Given the description of an element on the screen output the (x, y) to click on. 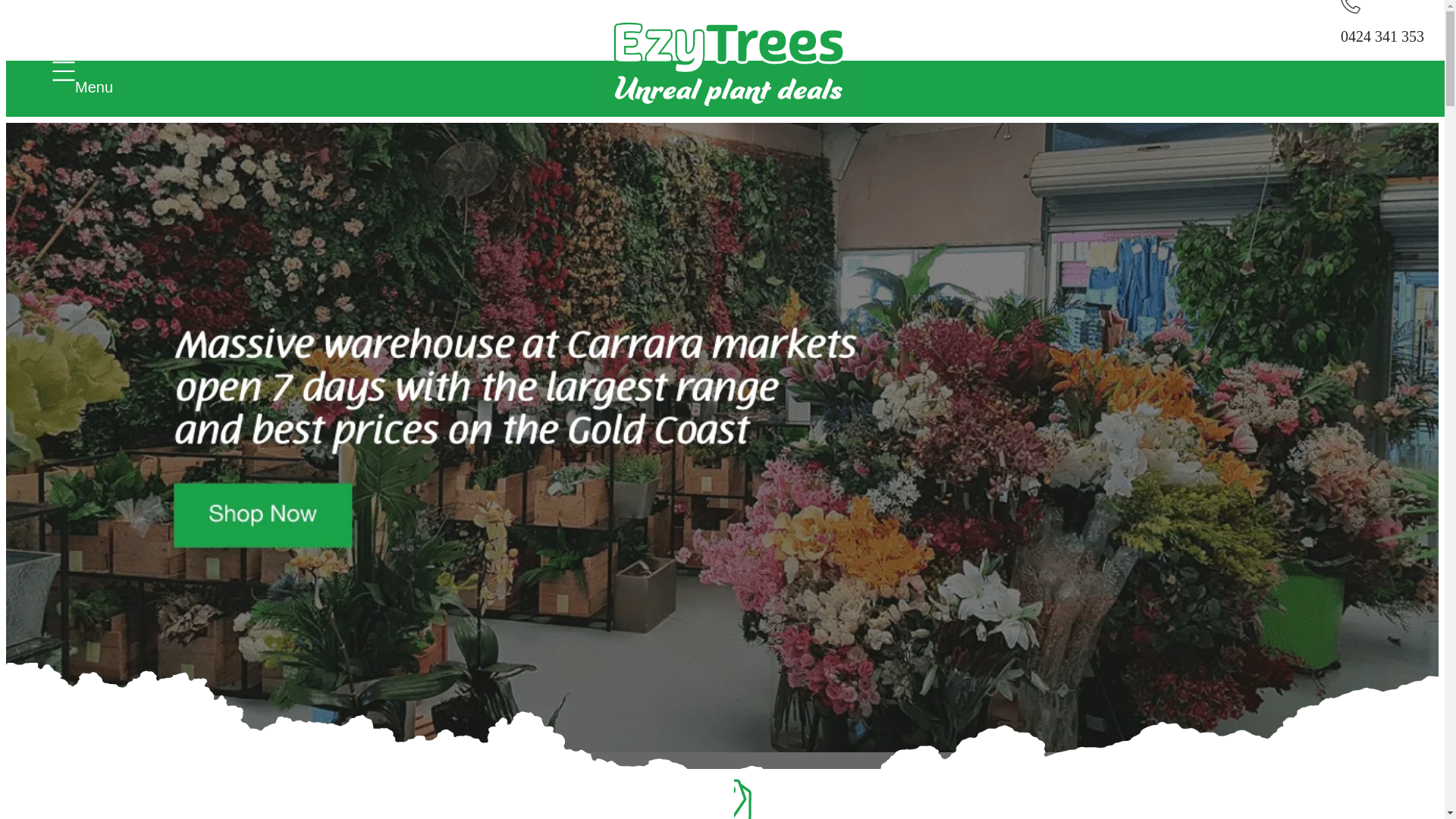
Artificial Trees Element type: text (129, 300)
Menu Element type: text (63, 72)
Hanging Baskets Element type: text (135, 327)
Contact Element type: text (104, 573)
Gallery Element type: text (103, 518)
Small & Medium Plants Element type: text (159, 409)
Garlands Element type: text (108, 436)
Previous Element type: text (28, 761)
Wall Panels Element type: text (117, 464)
About Us Element type: text (110, 491)
Home Element type: text (98, 273)
Flower Stems Element type: text (124, 382)
Next Element type: text (63, 761)
Floral Arrangements Element type: text (147, 355)
Help & Advice Element type: text (128, 546)
